Given the description of an element on the screen output the (x, y) to click on. 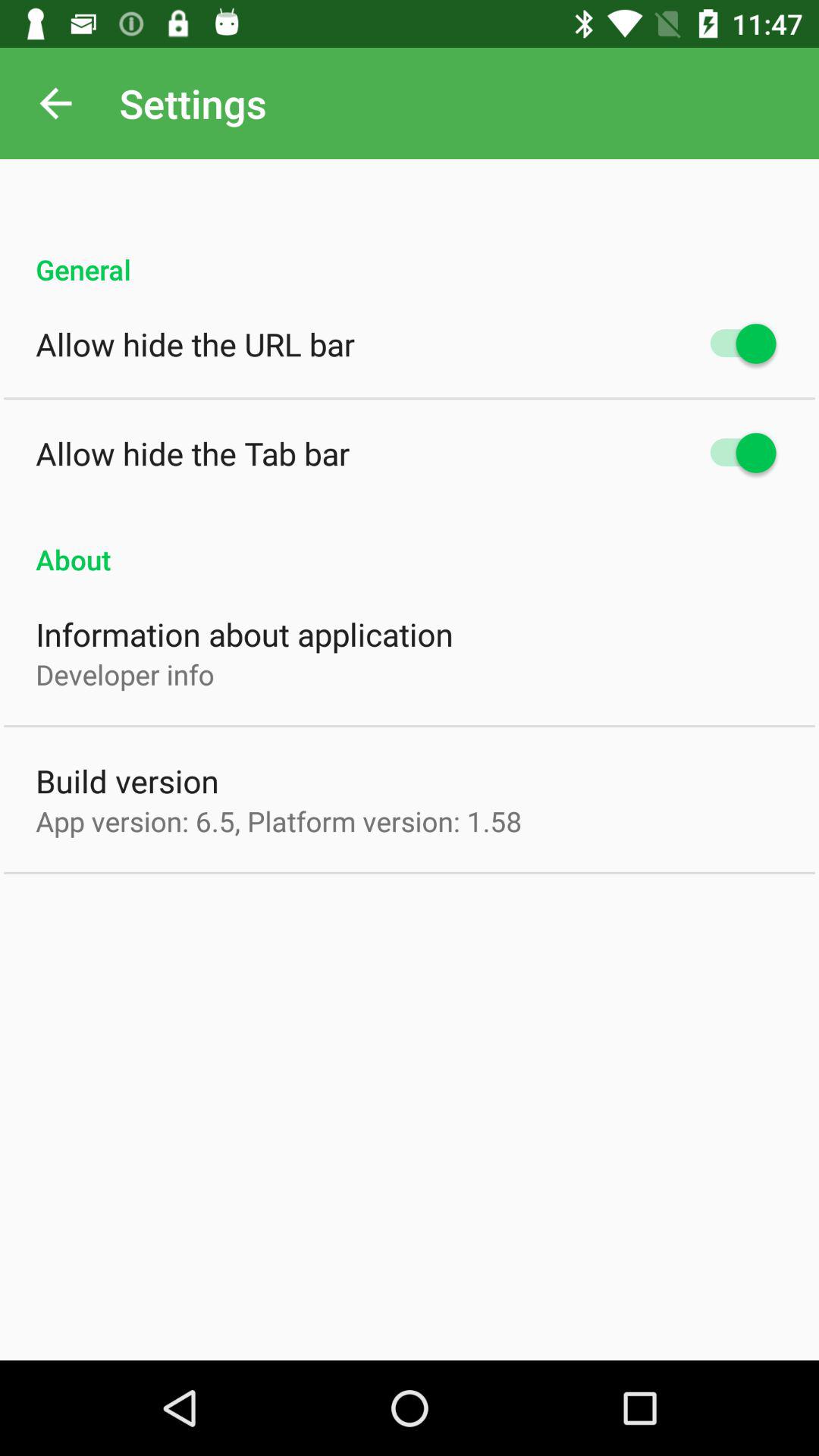
tap general icon (409, 253)
